Given the description of an element on the screen output the (x, y) to click on. 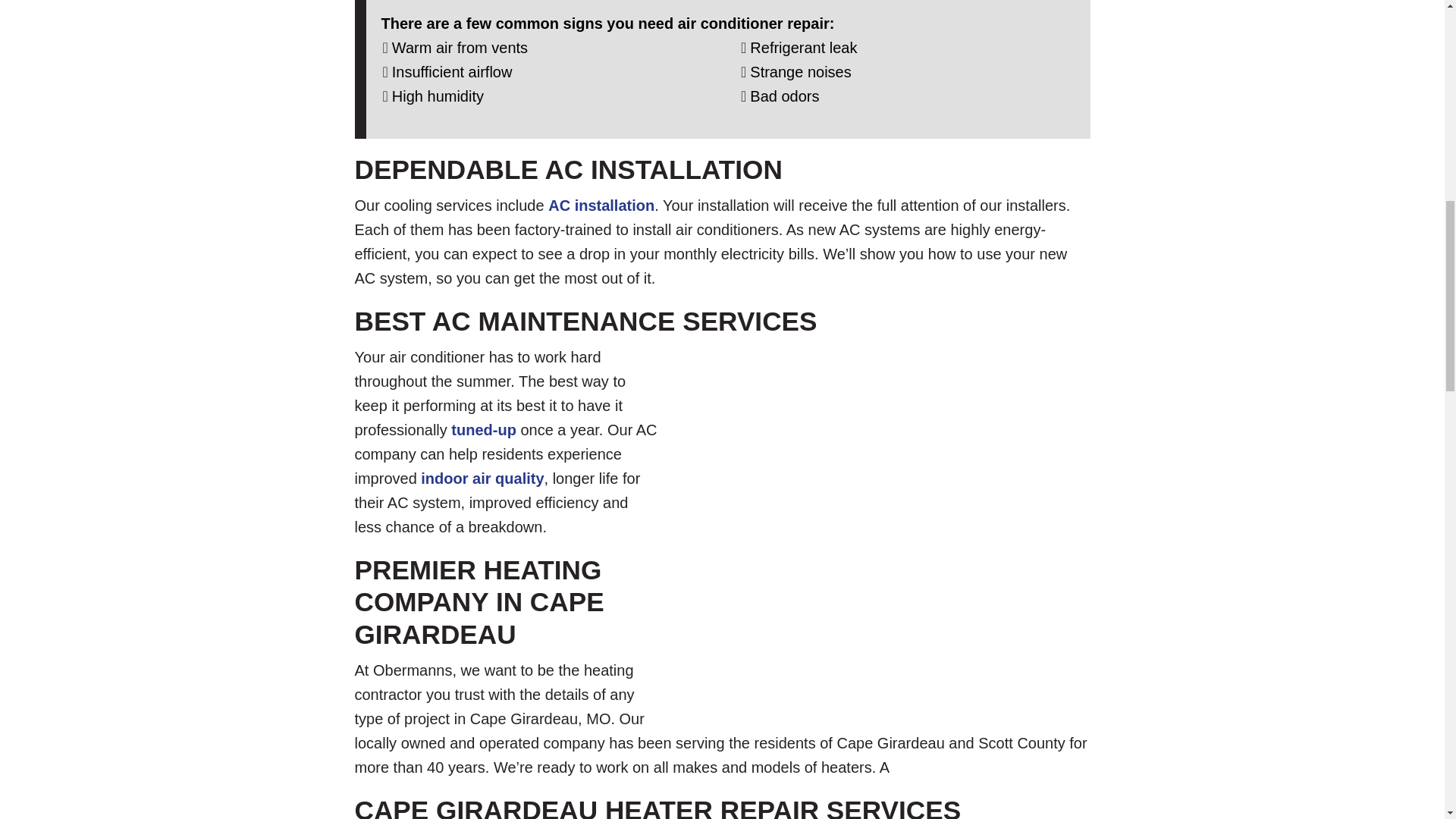
tuned-up (483, 429)
indoor air quality (481, 478)
AC installation (600, 205)
